Given the description of an element on the screen output the (x, y) to click on. 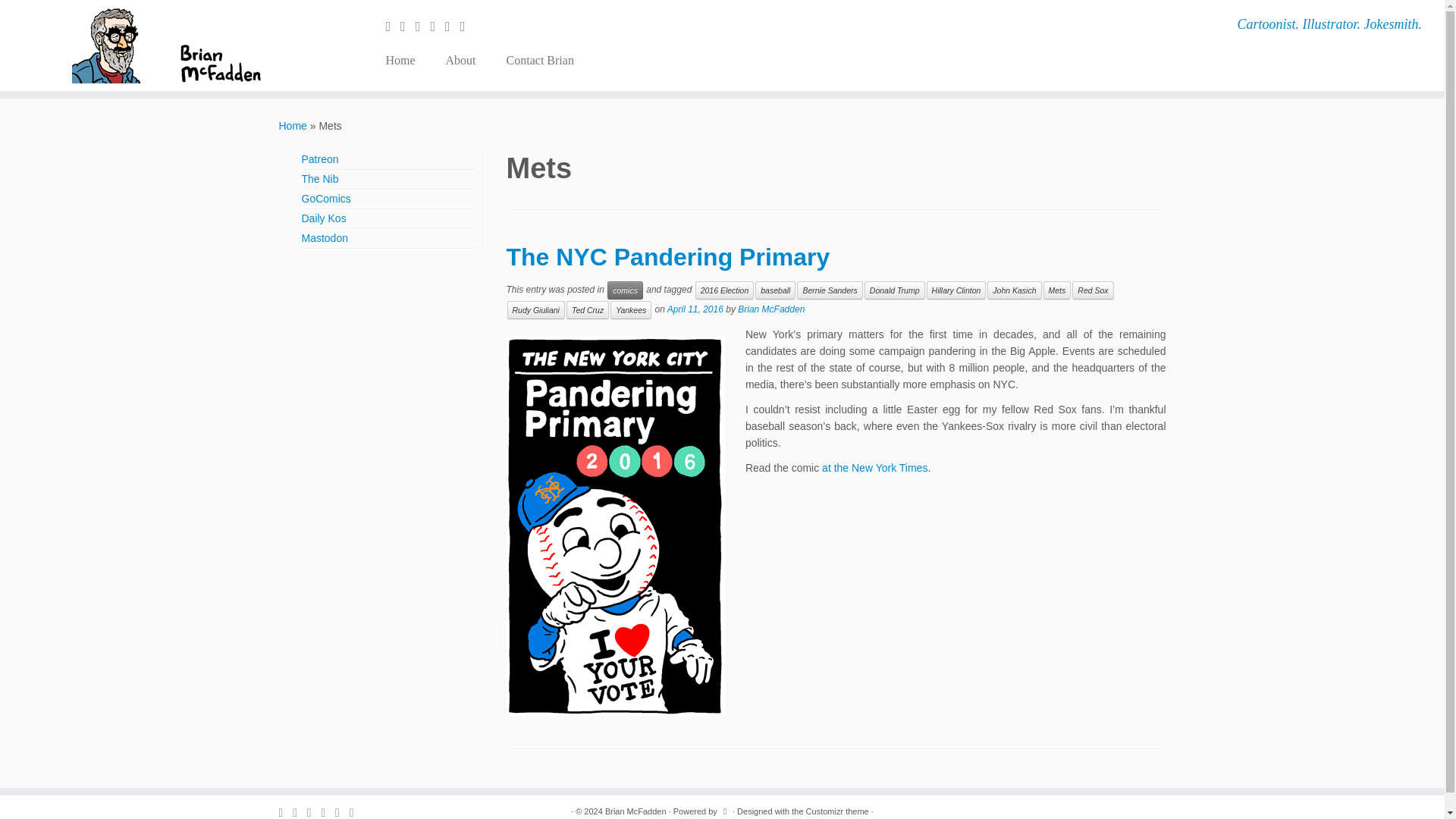
View all posts in Bernie Sanders (828, 290)
Subscribe to my rss feed (392, 26)
April 11, 2016 (694, 308)
View all posts in Donald Trump (894, 290)
Bernie Sanders (828, 290)
Daily Kos (323, 218)
Contact Brian (532, 60)
About (461, 60)
Donald Trump (894, 290)
The Nib (320, 178)
